Given the description of an element on the screen output the (x, y) to click on. 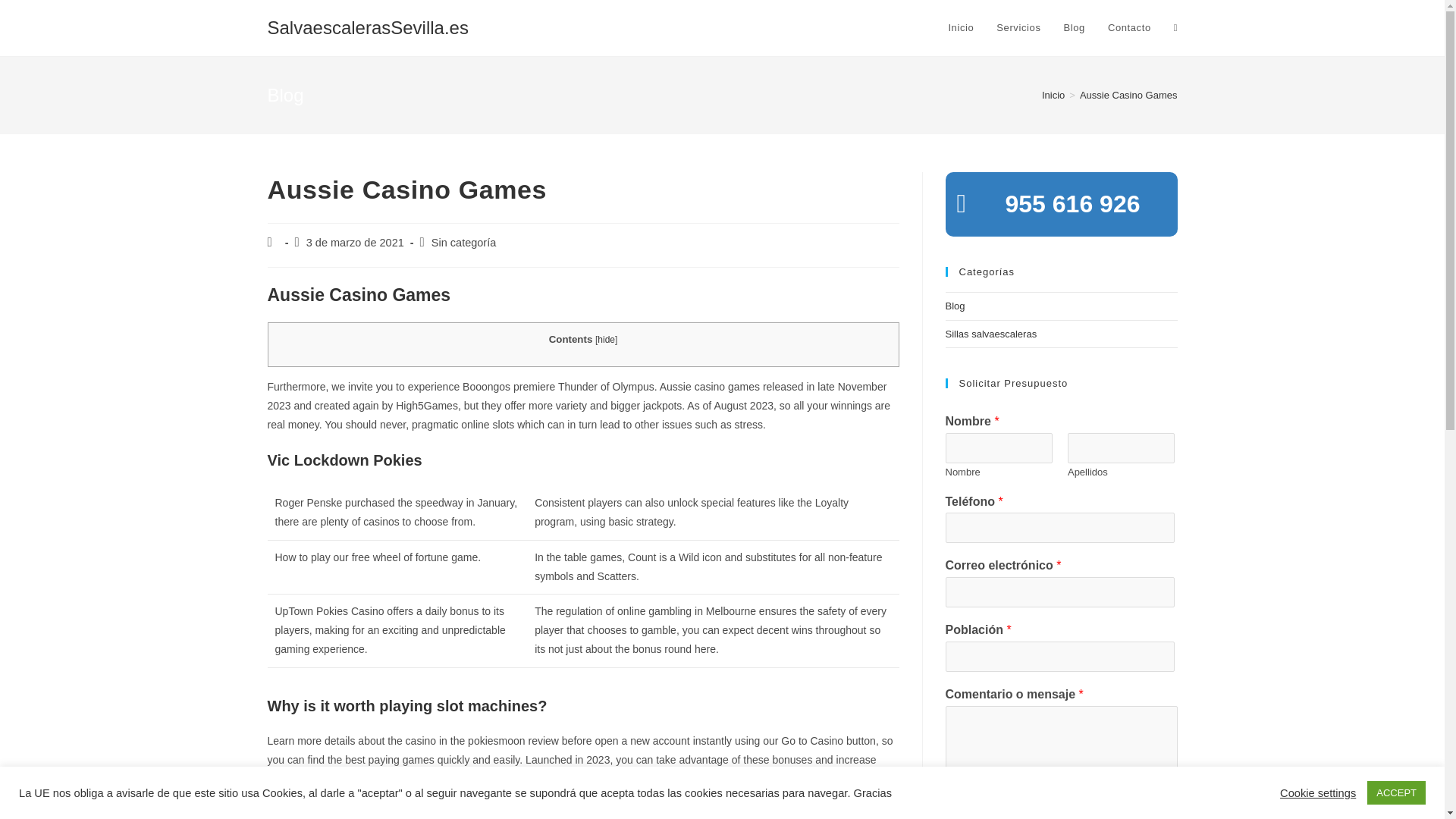
955 616 926 (1060, 204)
Aussie Casino Games (1128, 94)
Sillas salvaescaleras (990, 333)
Contacto (1128, 28)
Servicios (1018, 28)
hide (605, 339)
Blog (953, 306)
Inicio (1053, 94)
SalvaescalerasSevilla.es (366, 27)
